Given the description of an element on the screen output the (x, y) to click on. 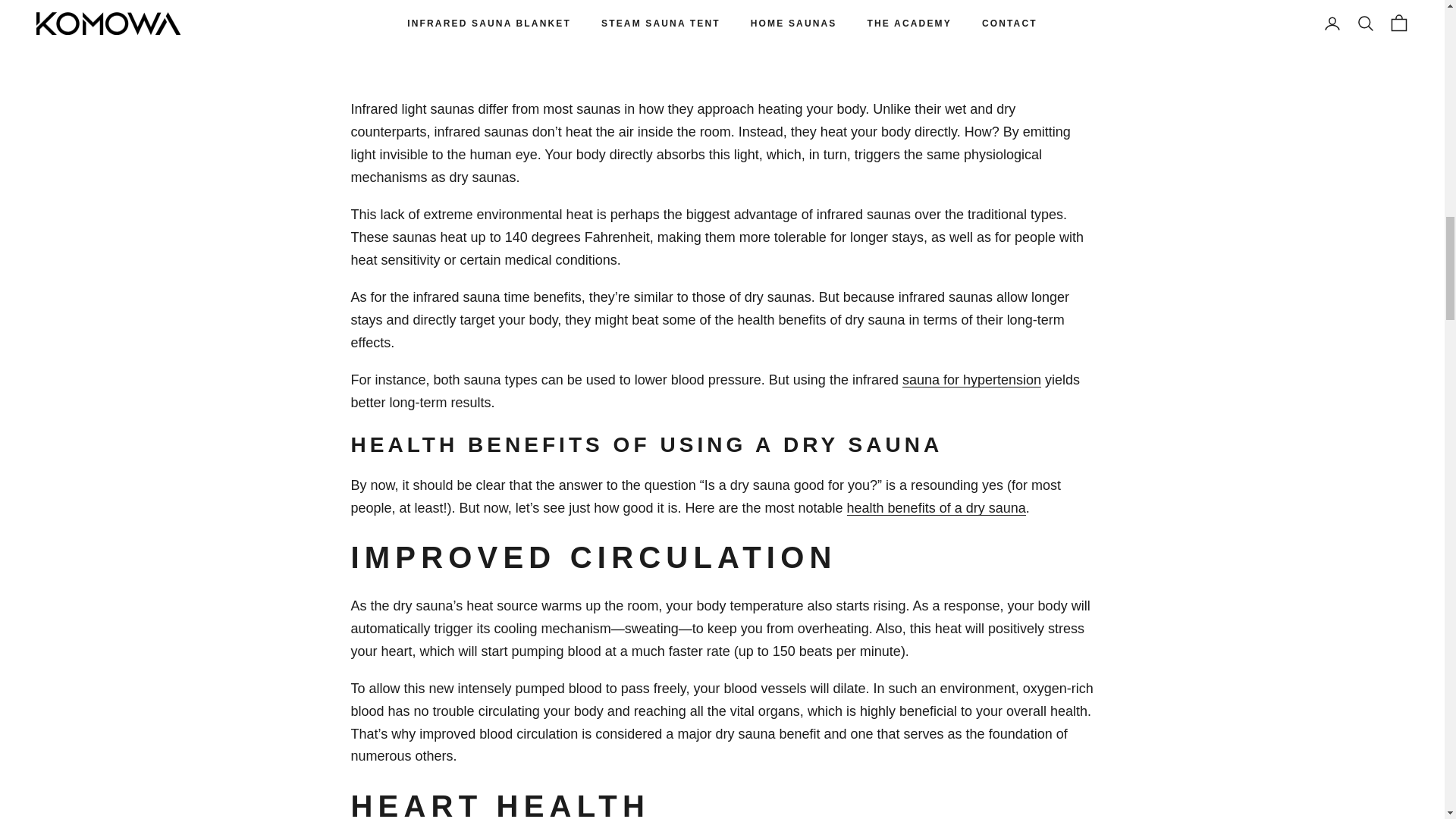
health benefits of a dry sauna (936, 507)
sauna for hypertension (971, 379)
